Given the description of an element on the screen output the (x, y) to click on. 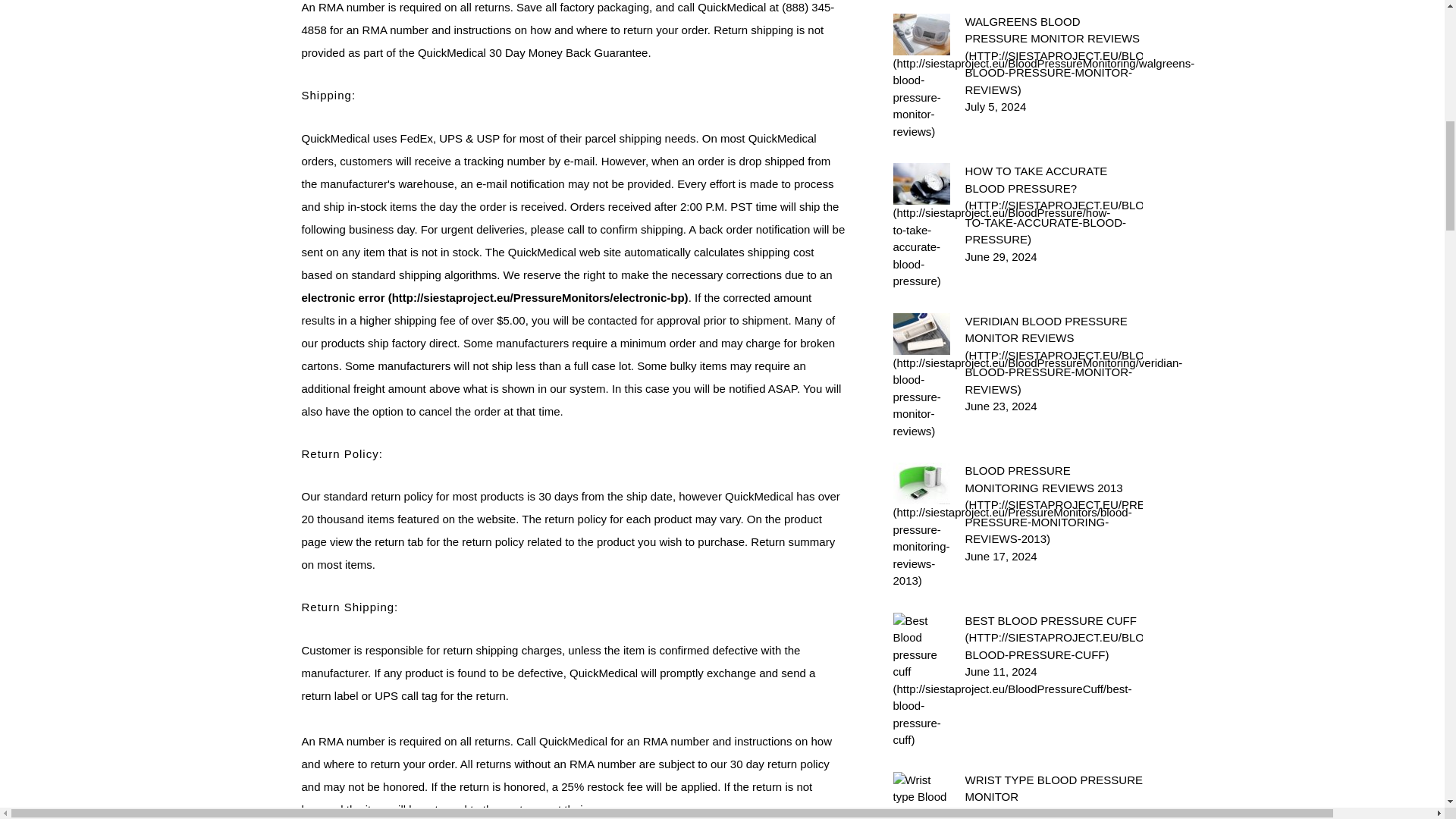
electronic error (494, 297)
Electronic BP (494, 297)
WALGREENS BLOOD PRESSURE MONITOR REVIEWS (1052, 56)
